Given the description of an element on the screen output the (x, y) to click on. 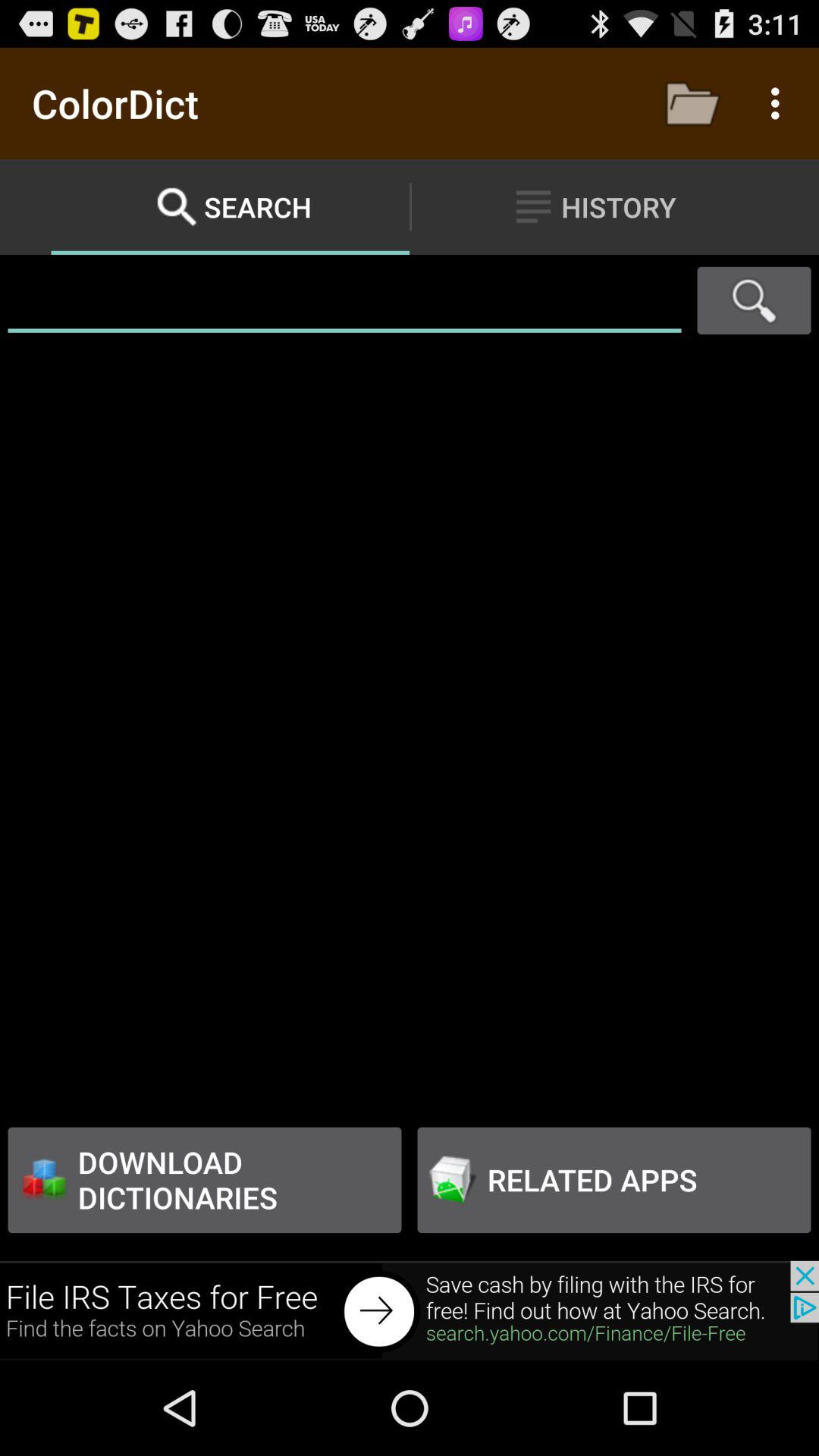
share the article (409, 1310)
